Given the description of an element on the screen output the (x, y) to click on. 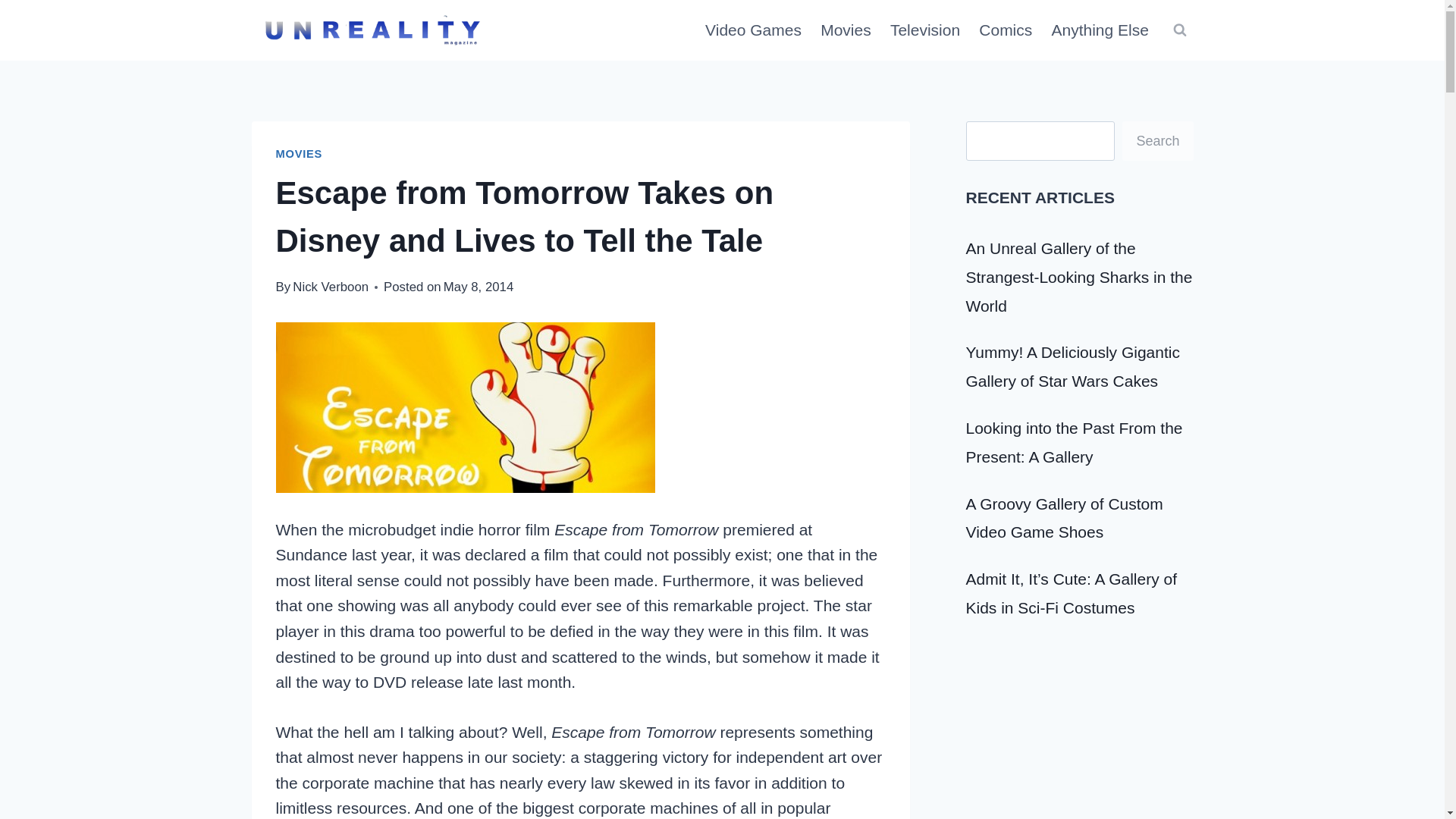
Nick Verboon (330, 287)
Video Games (752, 30)
MOVIES (299, 153)
Television (924, 30)
Movies (845, 30)
Comics (1005, 30)
Anything Else (1100, 30)
